Given the description of an element on the screen output the (x, y) to click on. 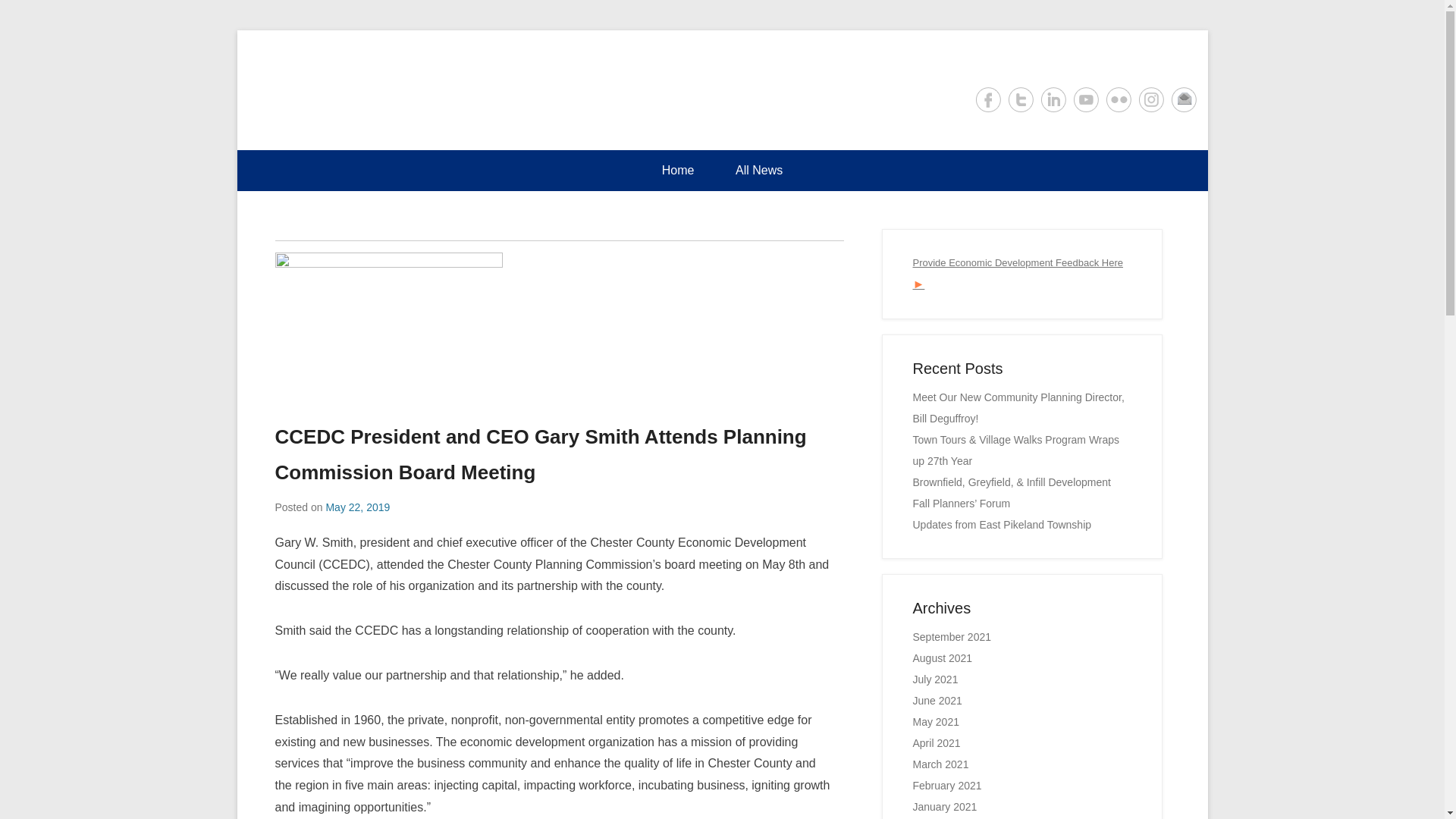
Instagram (1150, 99)
May 22, 2019 (357, 507)
Instagram (1150, 99)
Updates from East Pikeland Township (1002, 524)
YouTube (1086, 99)
LinkedIn (1053, 99)
LinkedIn (1053, 99)
Flickr (1118, 99)
Facebook (987, 99)
